Given the description of an element on the screen output the (x, y) to click on. 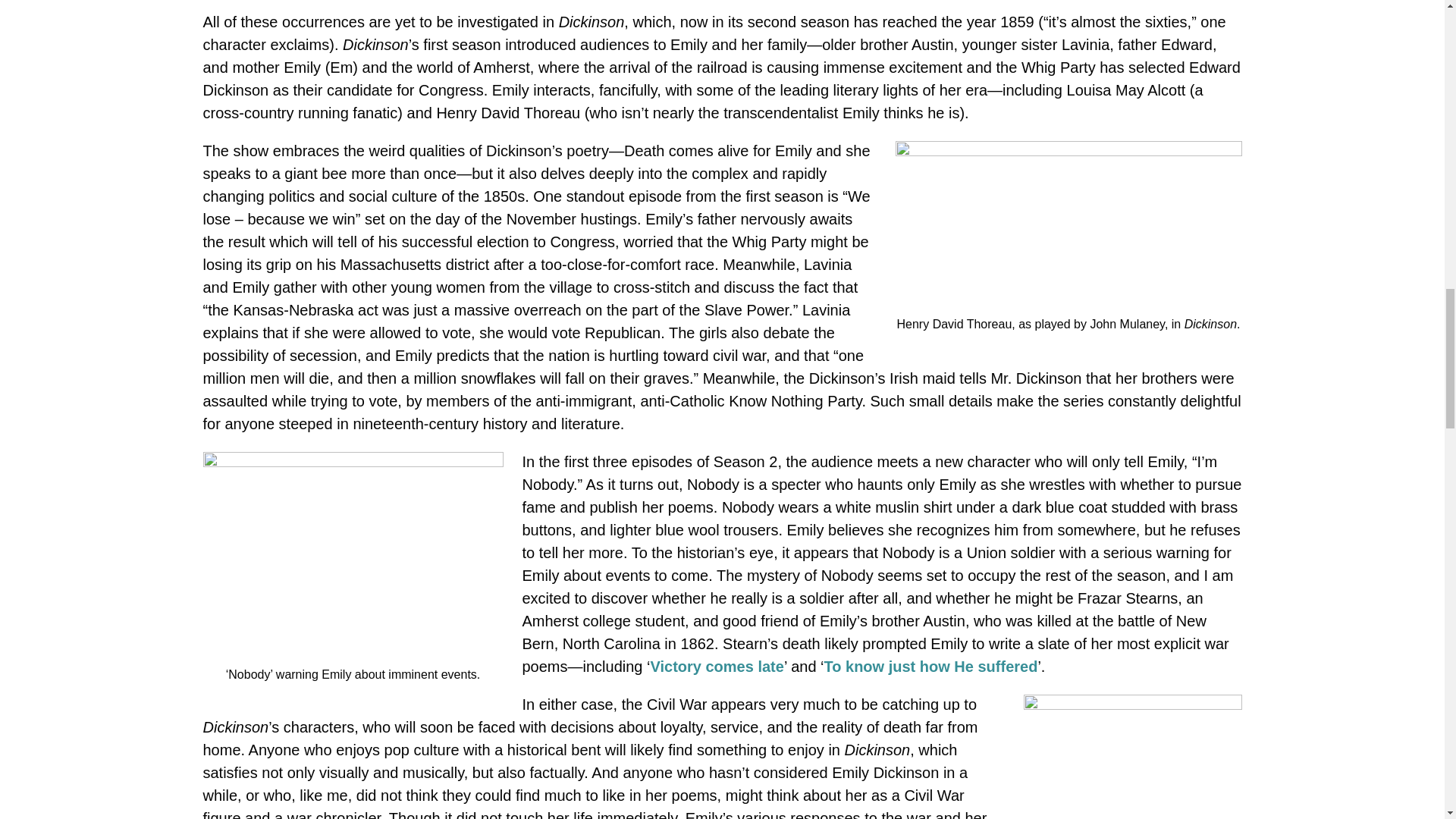
Victory comes late (716, 666)
To know just how He suffered (931, 666)
